Given the description of an element on the screen output the (x, y) to click on. 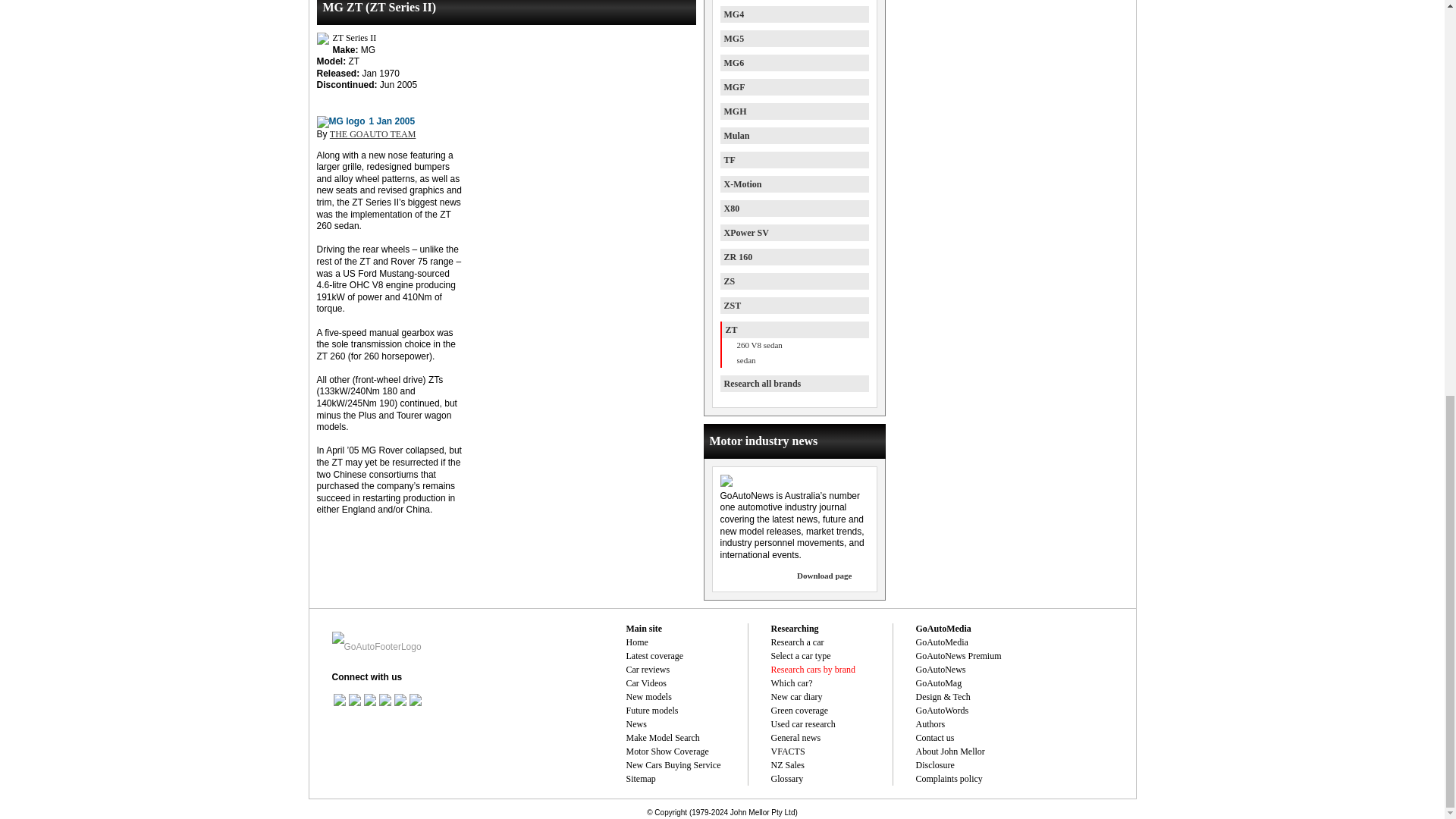
The MG motorcar company logo (341, 121)
